Given the description of an element on the screen output the (x, y) to click on. 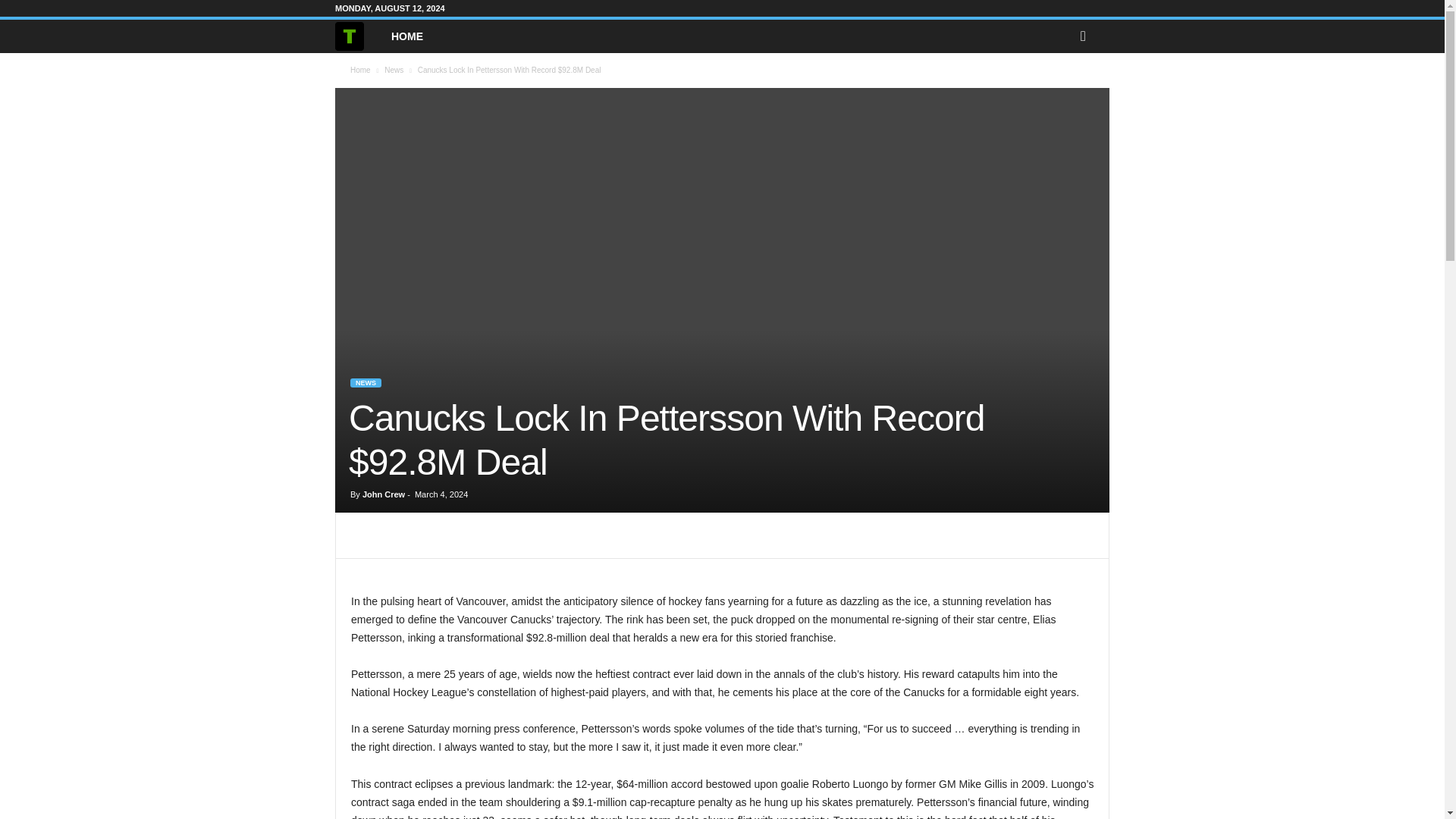
Tunf News (357, 35)
News (393, 70)
Home (360, 70)
HOME (406, 36)
NEWS (365, 382)
View all posts in News (393, 70)
John Crew (383, 493)
